Given the description of an element on the screen output the (x, y) to click on. 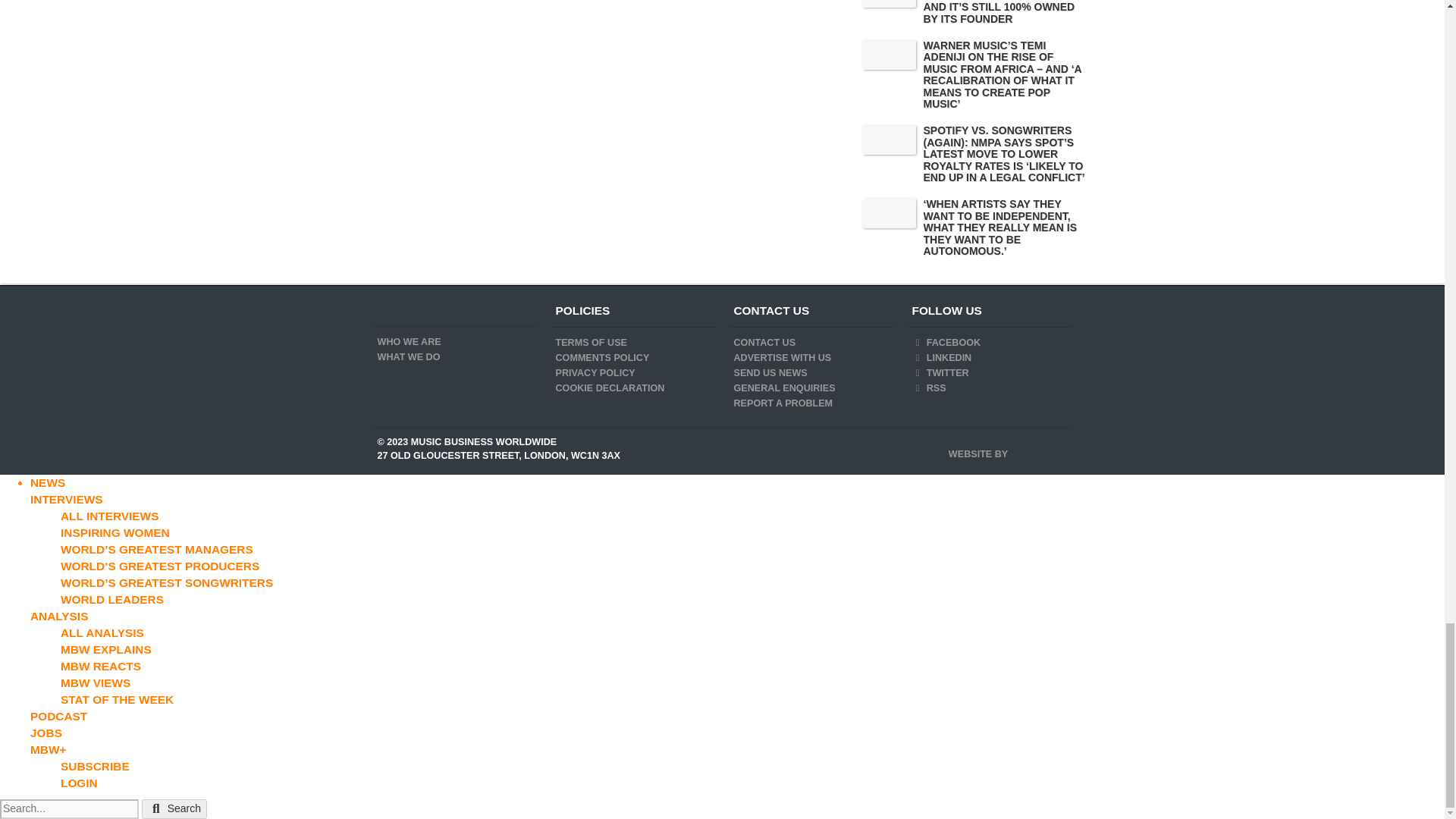
44 Bytes - Intelligent Internet Services (1038, 448)
Music Business Worldwide (398, 310)
